Given the description of an element on the screen output the (x, y) to click on. 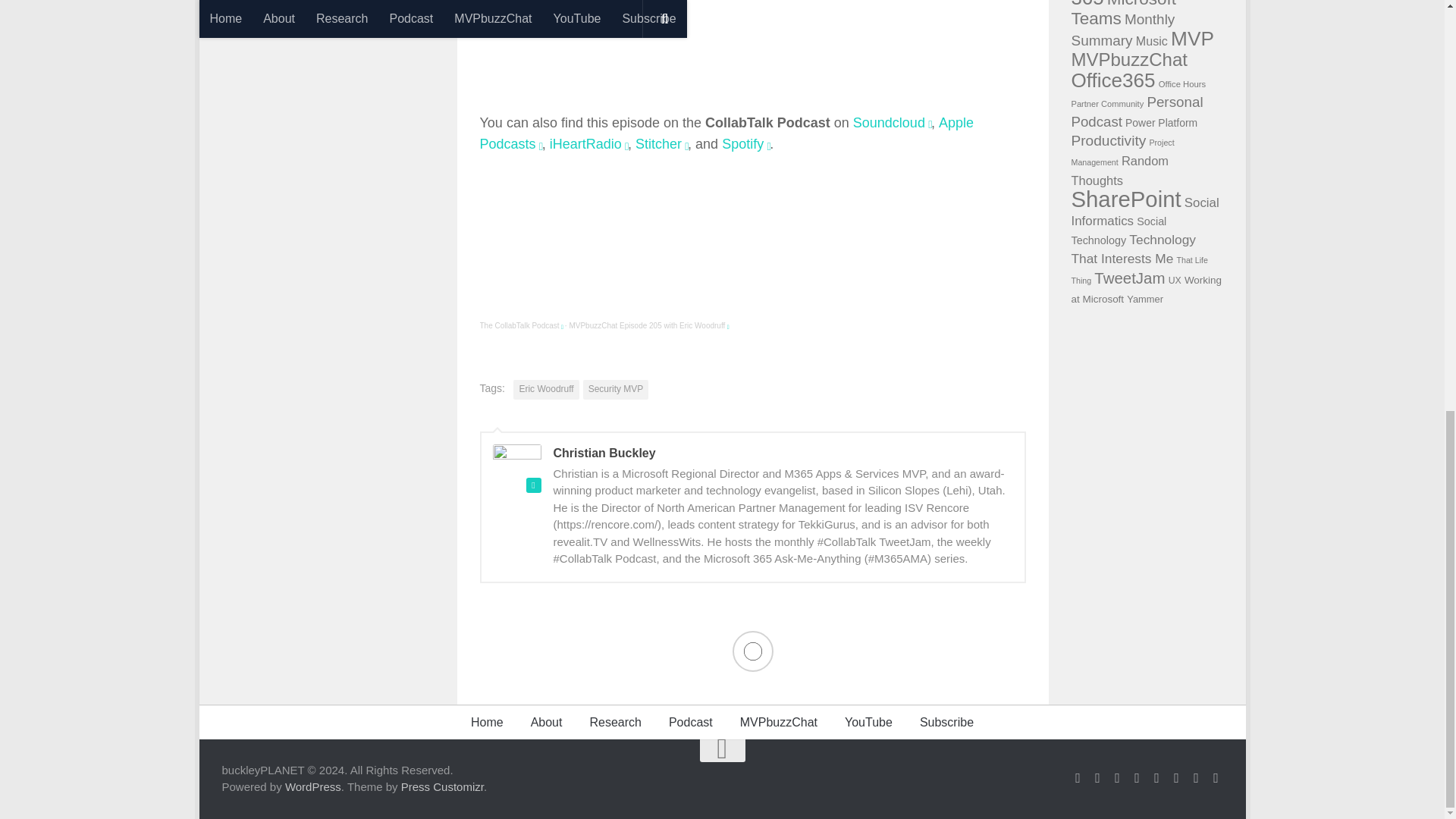
MVPbuzzChat Episode 205 with Eric Woodruff (647, 325)
Stitcher (657, 143)
Apple Podcasts (726, 133)
iHeartRadio (585, 143)
Eric Woodruff (545, 389)
Spotify (742, 143)
MVPbuzzChat Episode 205 with Eric Woodruff (647, 325)
The CollabTalk Podcast (519, 325)
Soundcloud (888, 122)
The CollabTalk Podcast (519, 325)
